Given the description of an element on the screen output the (x, y) to click on. 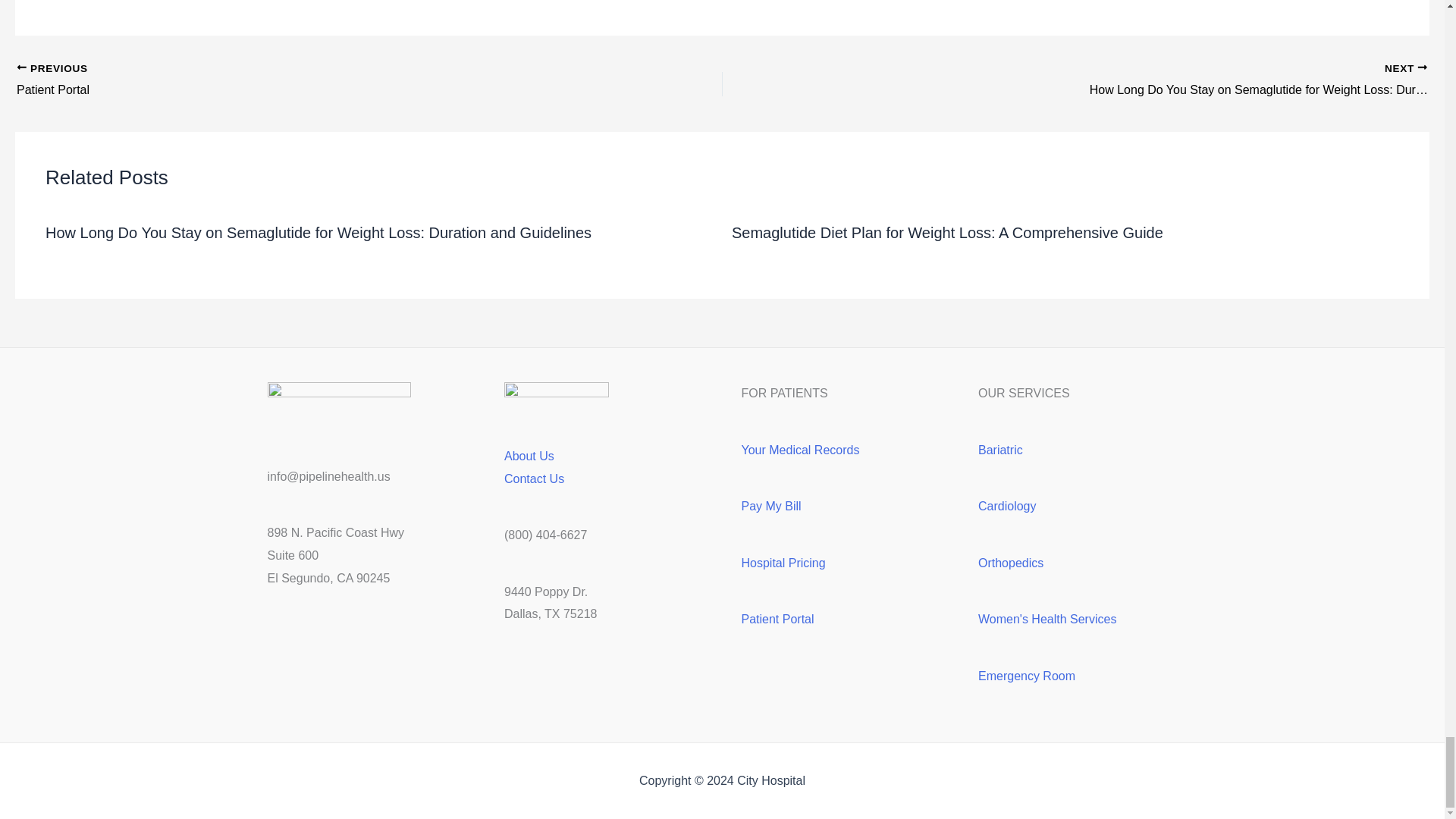
Patient Portal (299, 80)
